Given the description of an element on the screen output the (x, y) to click on. 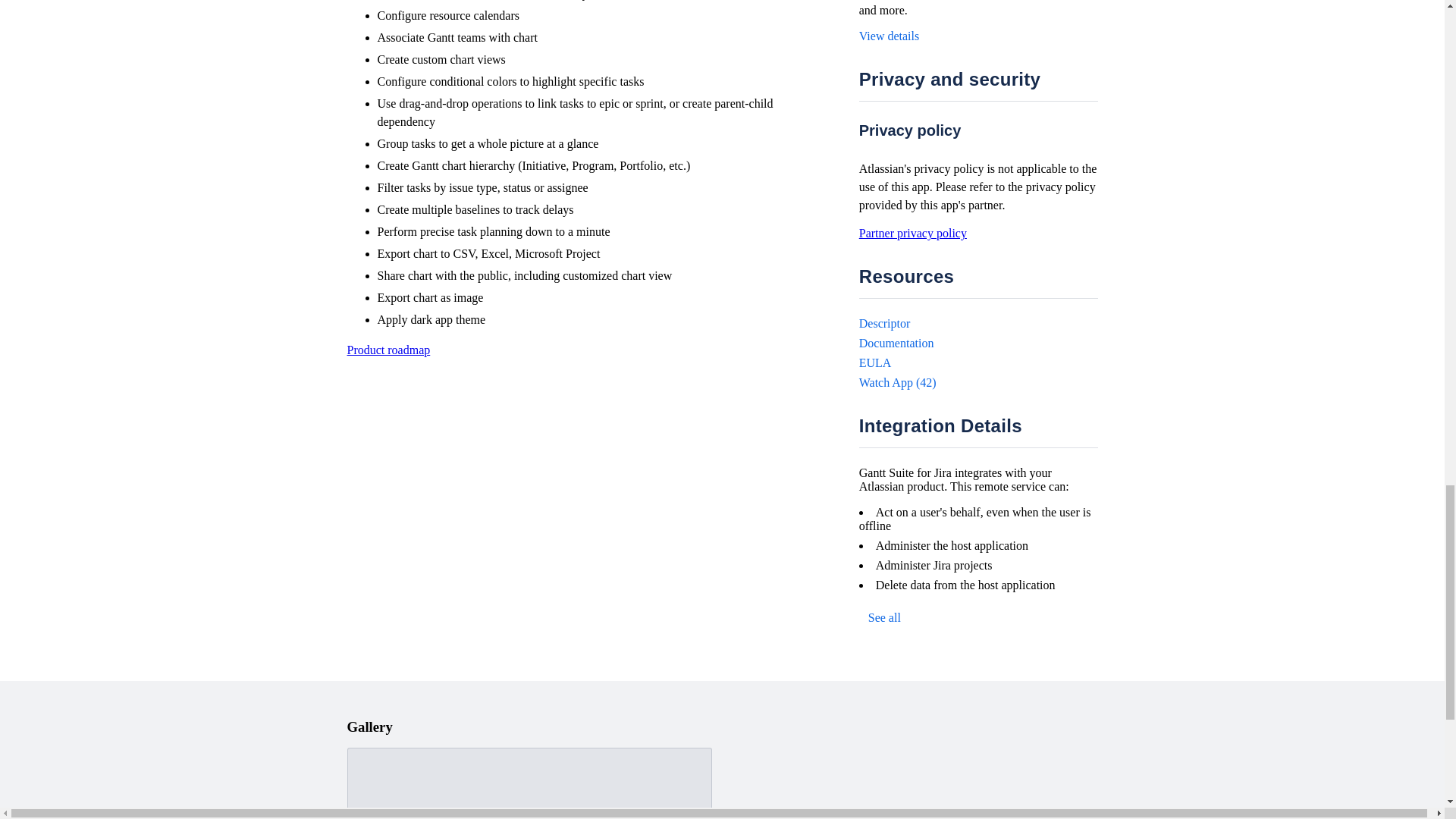
View details (888, 36)
Documentation (896, 342)
Partner privacy policy (912, 232)
Descriptor (885, 323)
EULA (875, 362)
Product roadmap (388, 349)
See all (884, 618)
